Given the description of an element on the screen output the (x, y) to click on. 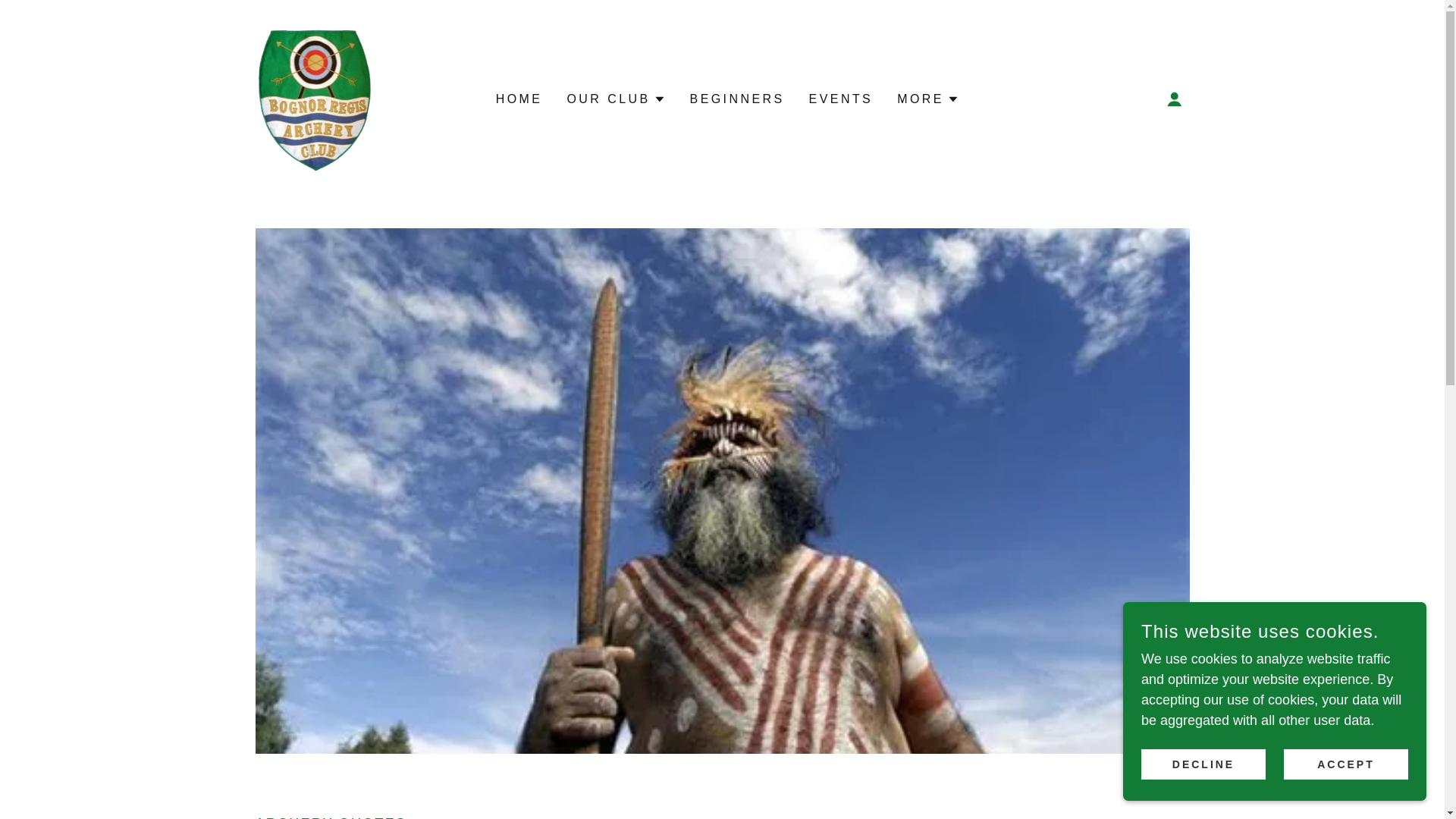
HOME (519, 98)
Bognor Regis Archery Club (314, 97)
MORE (927, 98)
EVENTS (841, 98)
OUR CLUB (615, 98)
BEGINNERS (737, 98)
